Given the description of an element on the screen output the (x, y) to click on. 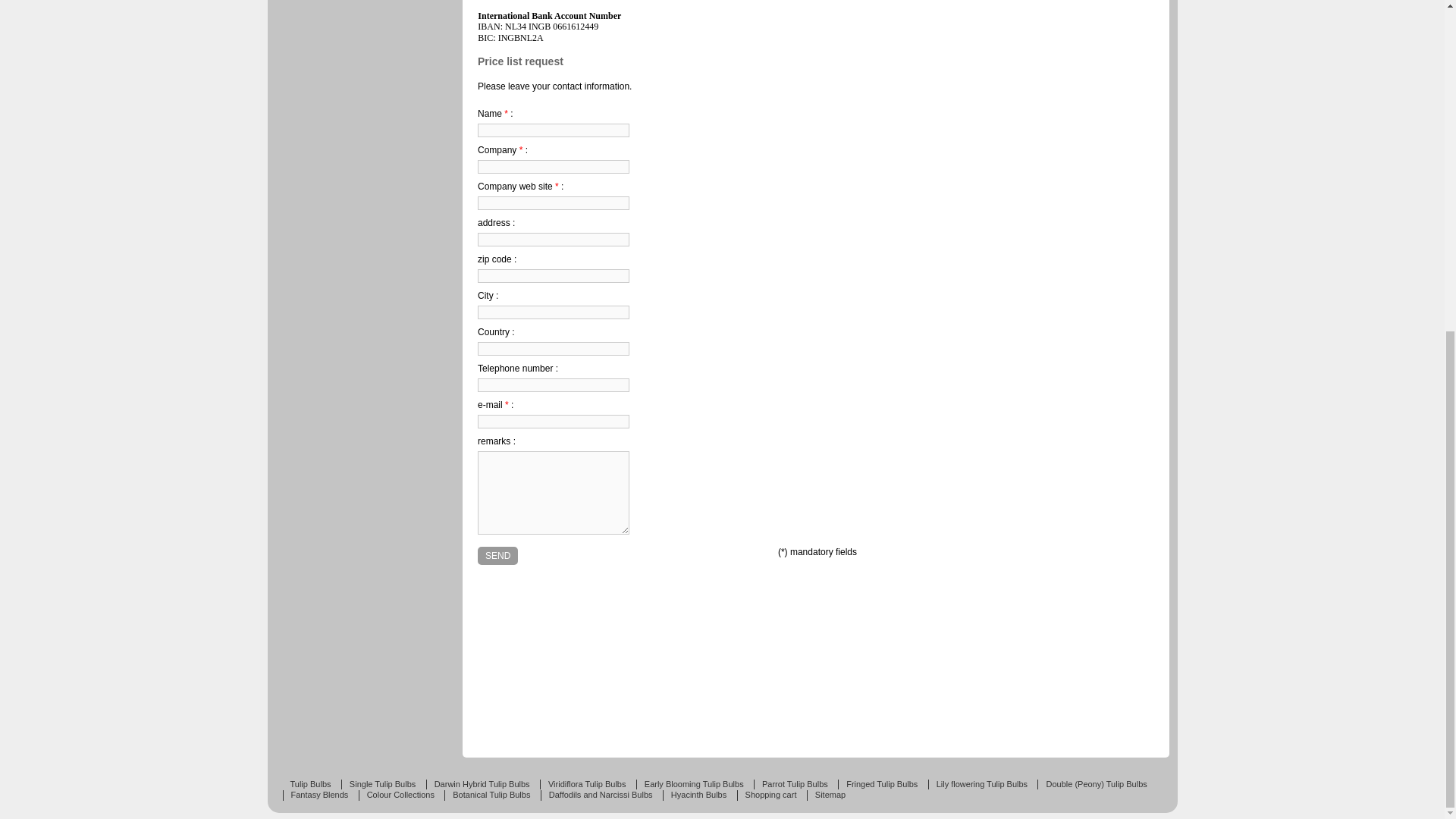
Parrot Tulip Bulbs (791, 784)
Fantasy Blends (314, 795)
Parrot Tulip Bulbs (791, 784)
Single Tulip Bulbs (377, 784)
Lily flowering Tulip Bulbs (977, 784)
Fantasy Blends (314, 795)
Lily flowering Tulip Bulbs (977, 784)
Daffodils and Narcissi Bulbs (596, 795)
Fringed Tulip Bulbs (877, 784)
Darwin Hybrid Tulip Bulbs (477, 784)
Botanical Tulip Bulbs (486, 795)
Viridiflora Tulip Bulbs (583, 784)
Hyacinth Bulbs (694, 795)
Shopping cart (766, 795)
Single Tulip Bulbs (377, 784)
